Given the description of an element on the screen output the (x, y) to click on. 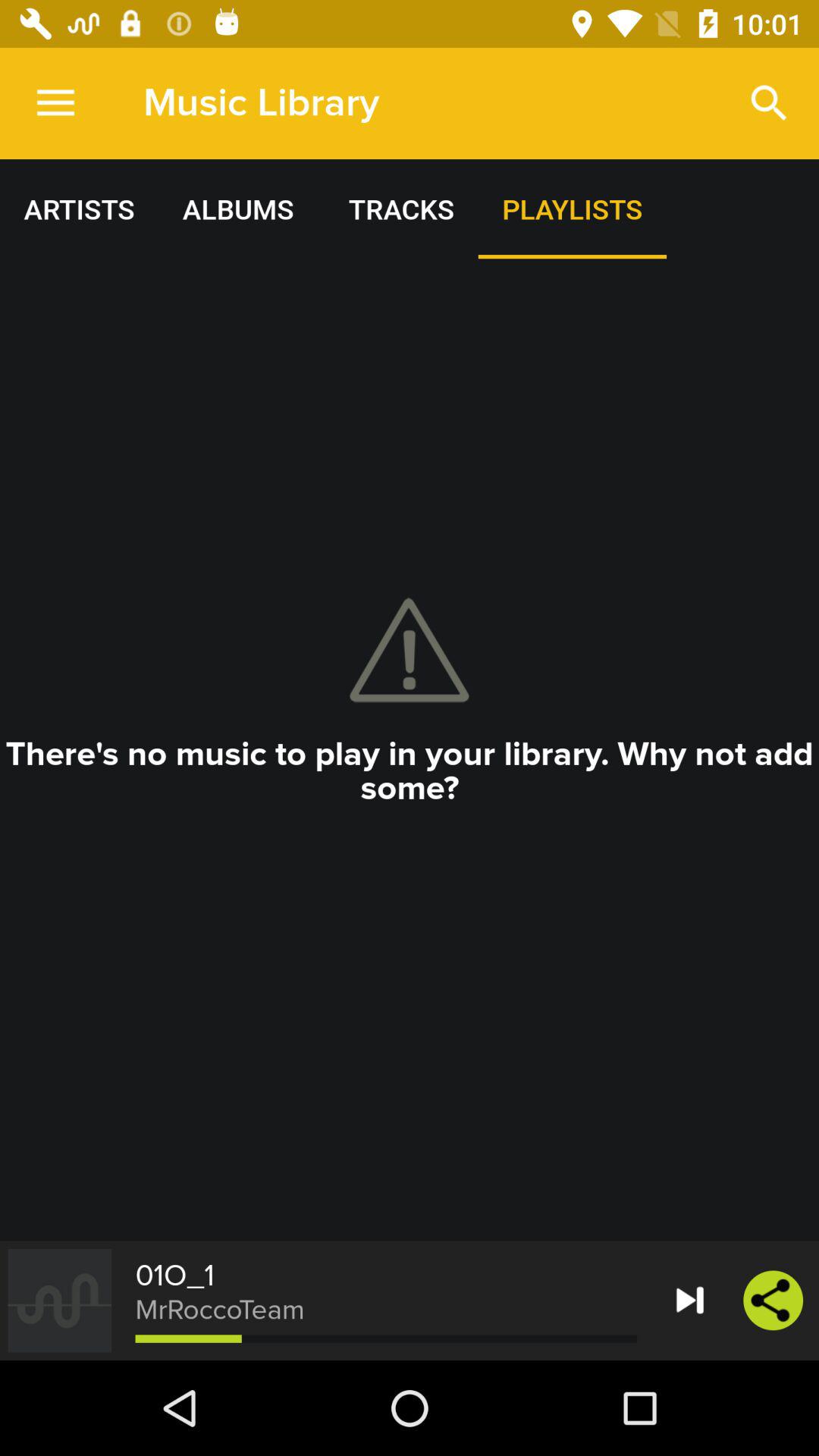
select icon next to music library item (769, 102)
